Given the description of an element on the screen output the (x, y) to click on. 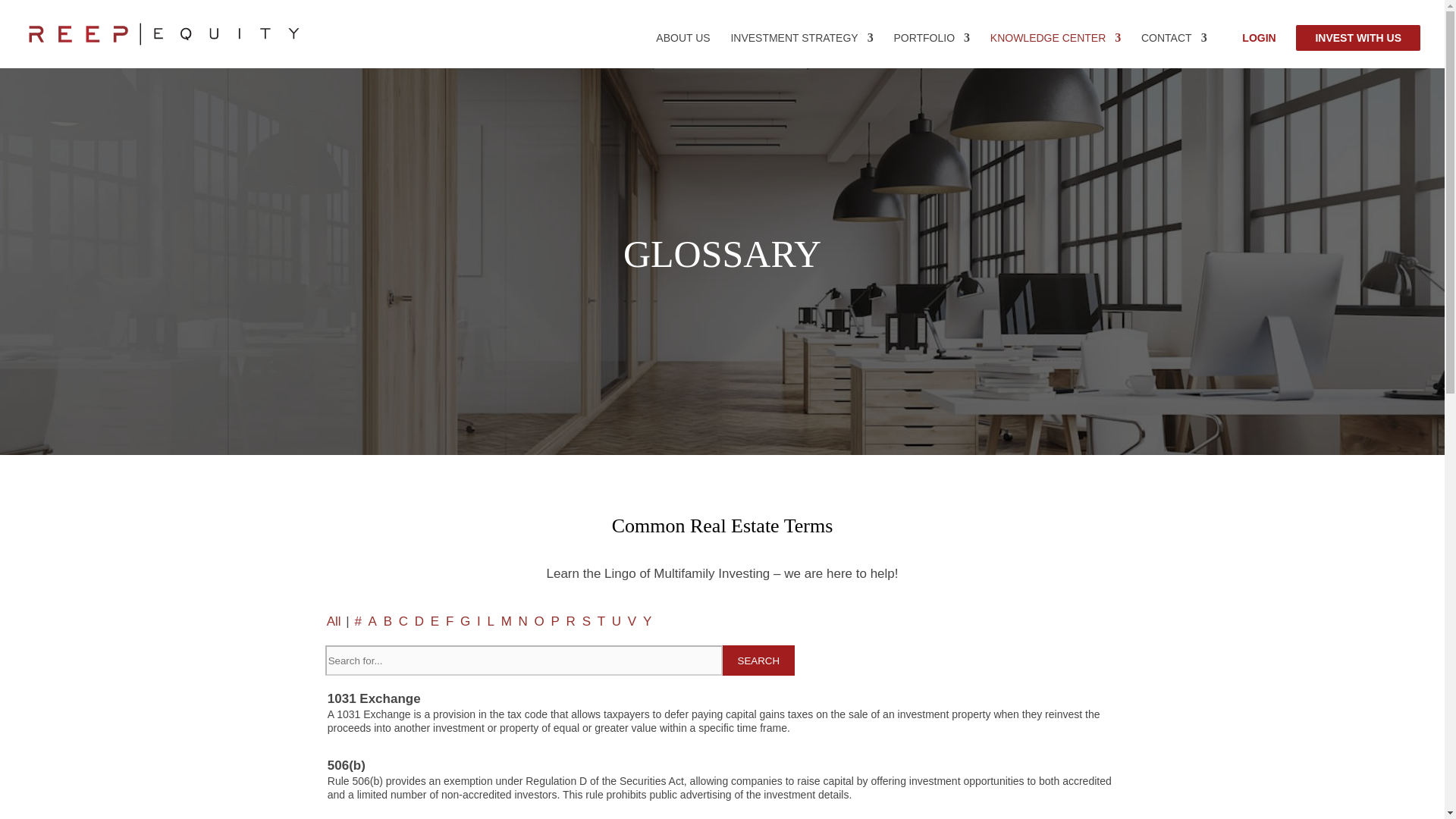
INVEST WITH US (1358, 37)
CONTACT (1174, 49)
LOGIN (1258, 49)
PORTFOLIO (931, 49)
KNOWLEDGE CENTER (1055, 49)
ABOUT US (683, 49)
All (333, 621)
Search (758, 660)
O (539, 621)
M (506, 621)
